Given the description of an element on the screen output the (x, y) to click on. 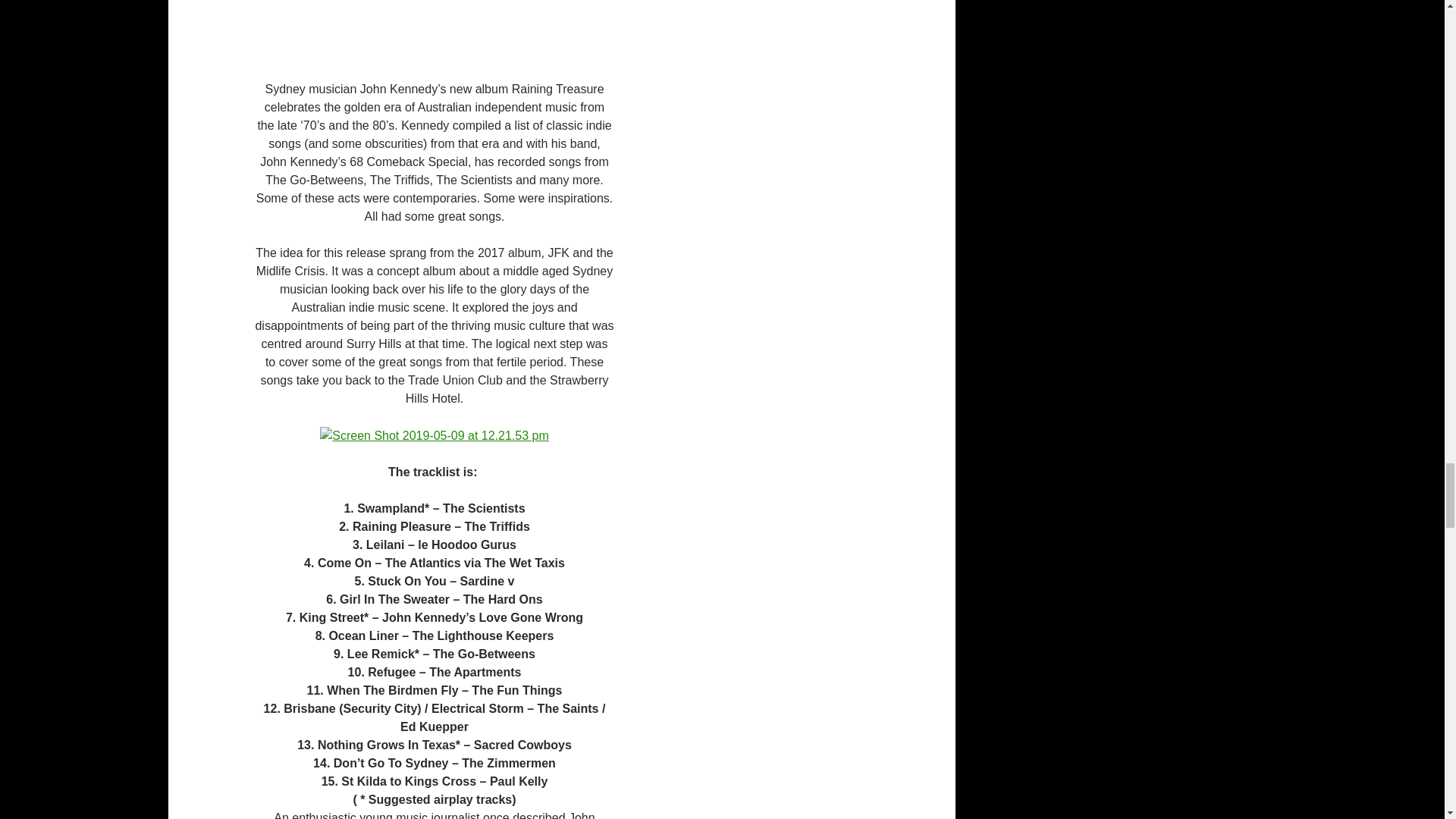
Page 1 (434, 581)
Page 1 (434, 741)
